Given the description of an element on the screen output the (x, y) to click on. 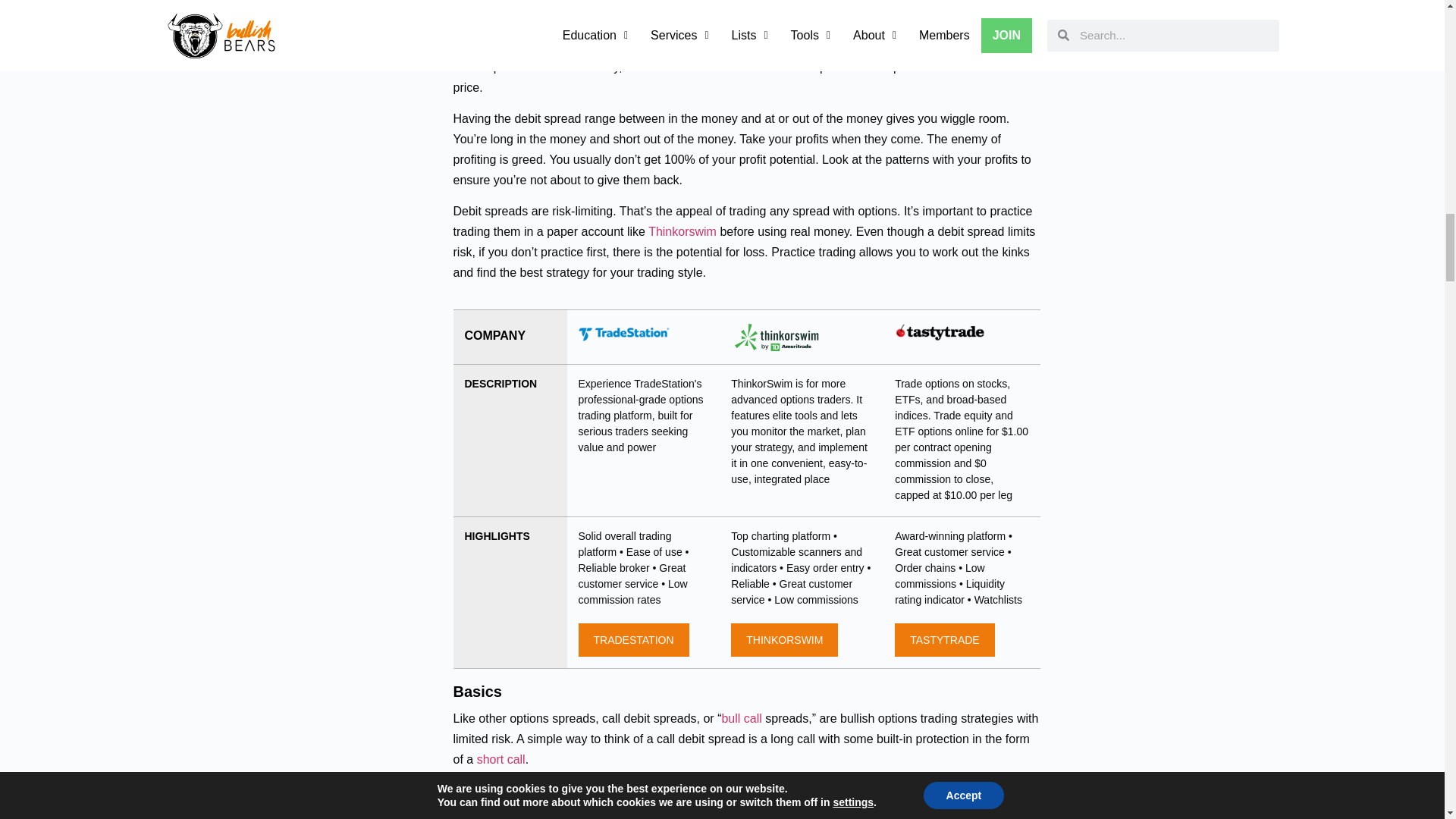
short call (501, 758)
At the money (773, 46)
Tastytrade Logo (940, 332)
out of the money (687, 46)
bull call (740, 717)
ThinkorSwim Logo (776, 336)
TradeStation (623, 332)
